Given the description of an element on the screen output the (x, y) to click on. 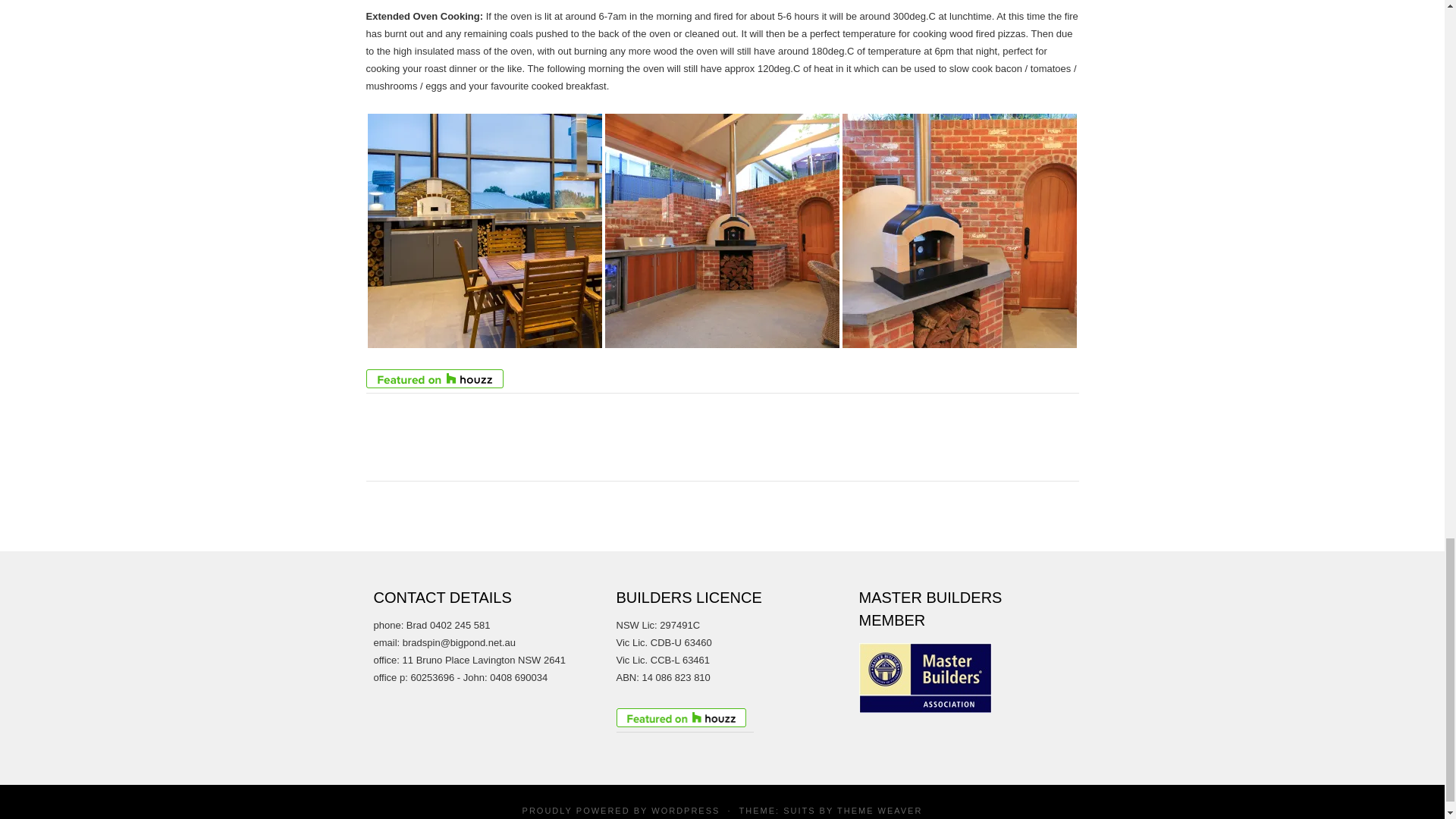
Theme Developer (879, 809)
WORDPRESS (684, 809)
Semantic Personal Publishing Platform (684, 809)
Wood Fired Oven inside Alfresco (483, 230)
THEME WEAVER (879, 809)
Inbuilt BBQ (722, 230)
Dome Pizza Oven (958, 230)
